Given the description of an element on the screen output the (x, y) to click on. 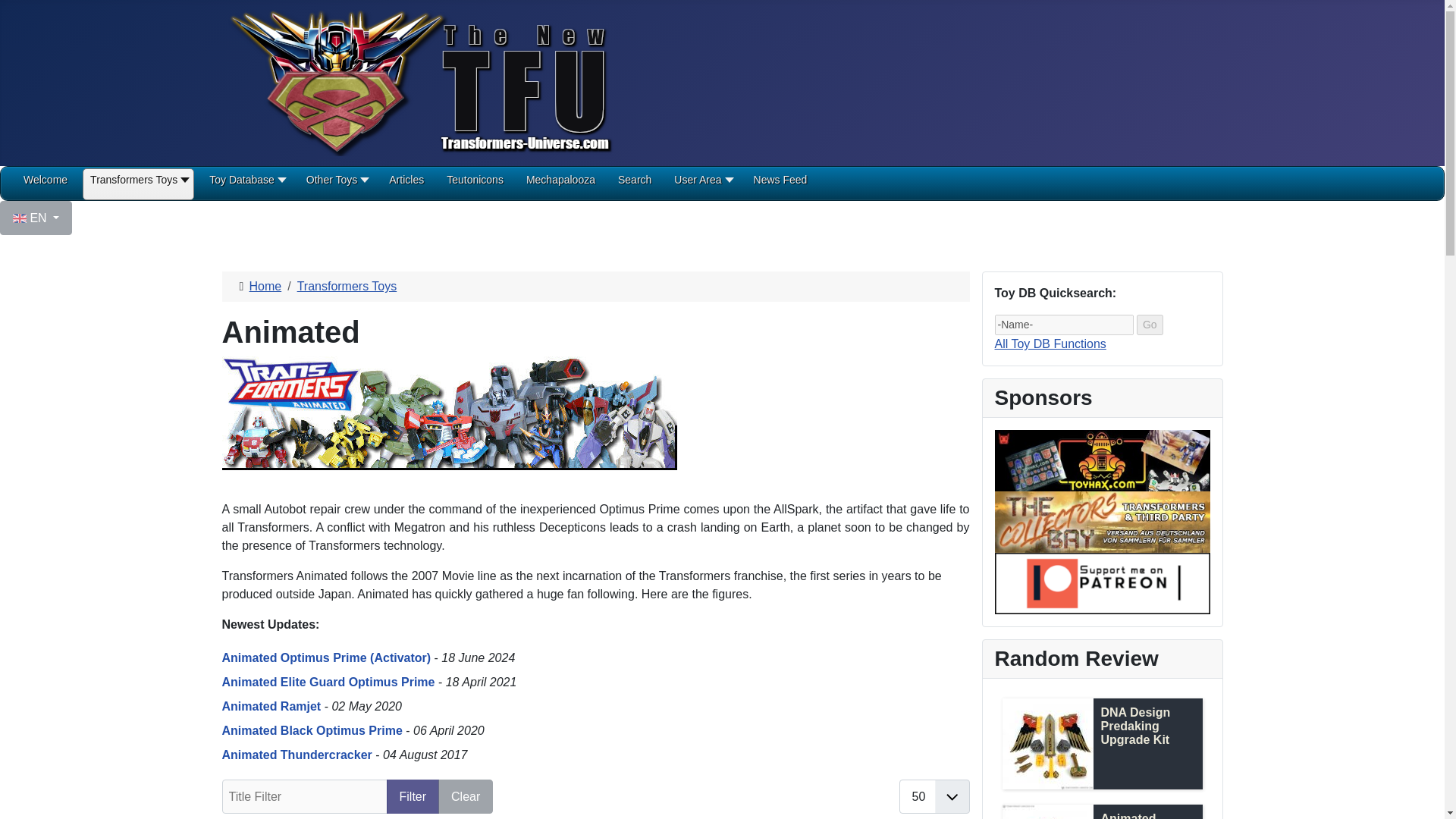
Transformers Toys (138, 184)
ToyHax (1101, 459)
Patreon (1101, 582)
Collectors Bay (1101, 521)
Welcome (44, 184)
-Name- (1064, 324)
Go (1150, 324)
